Given the description of an element on the screen output the (x, y) to click on. 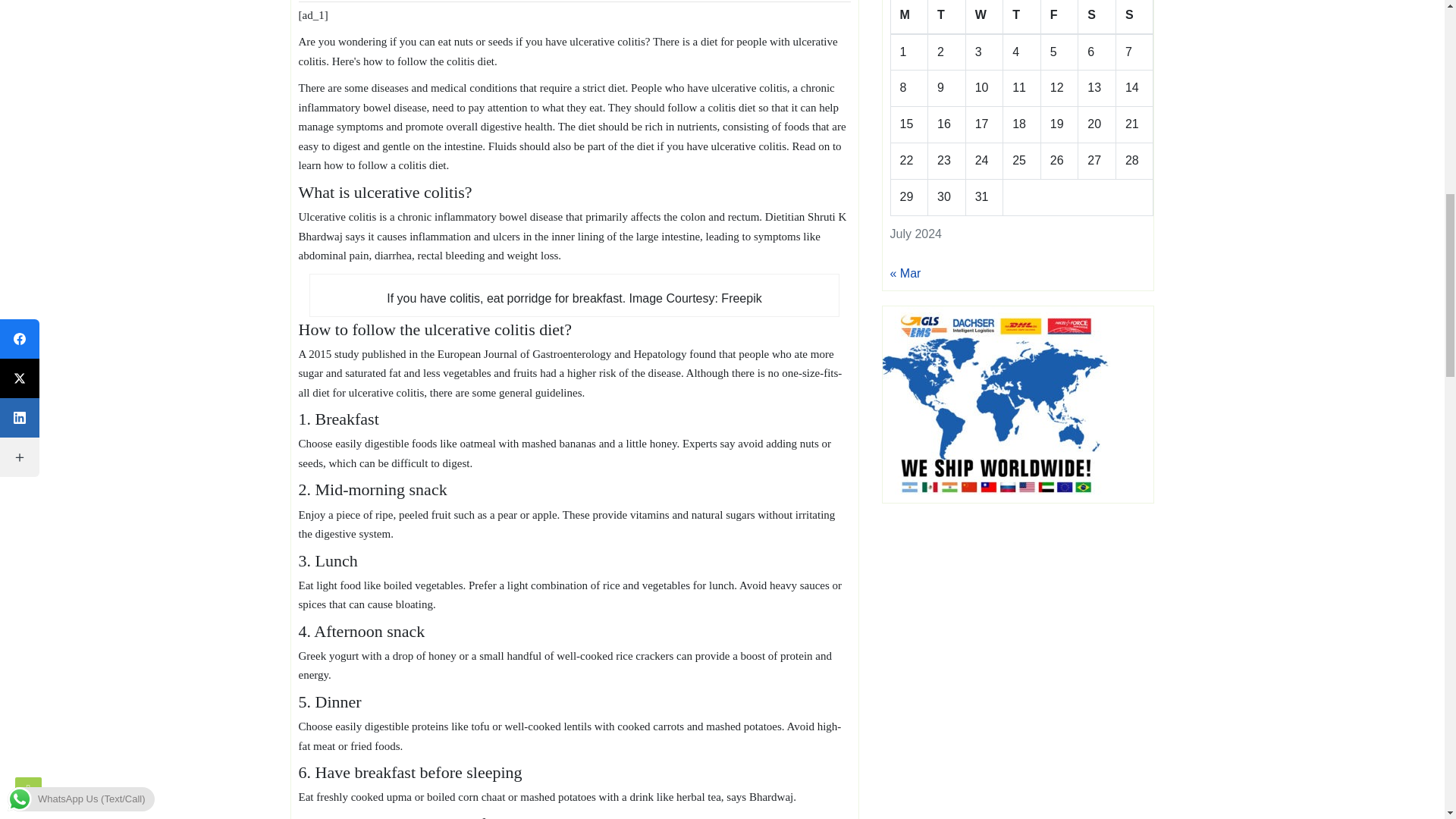
Monday (908, 16)
